Given the description of an element on the screen output the (x, y) to click on. 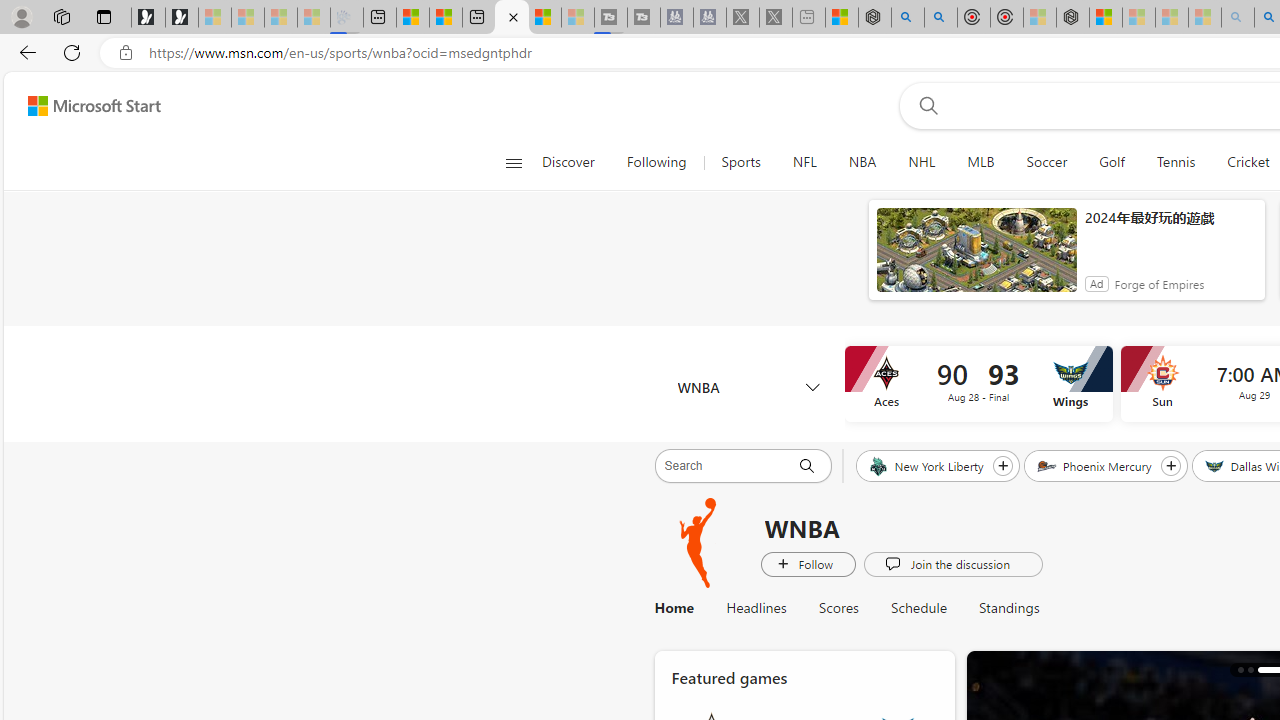
Follow WNBA 2024 (808, 563)
Standings (1000, 607)
X - Sleeping (776, 17)
Home (682, 607)
Class: button-glyph (513, 162)
Open navigation menu (513, 162)
Golf (1112, 162)
